Given the description of an element on the screen output the (x, y) to click on. 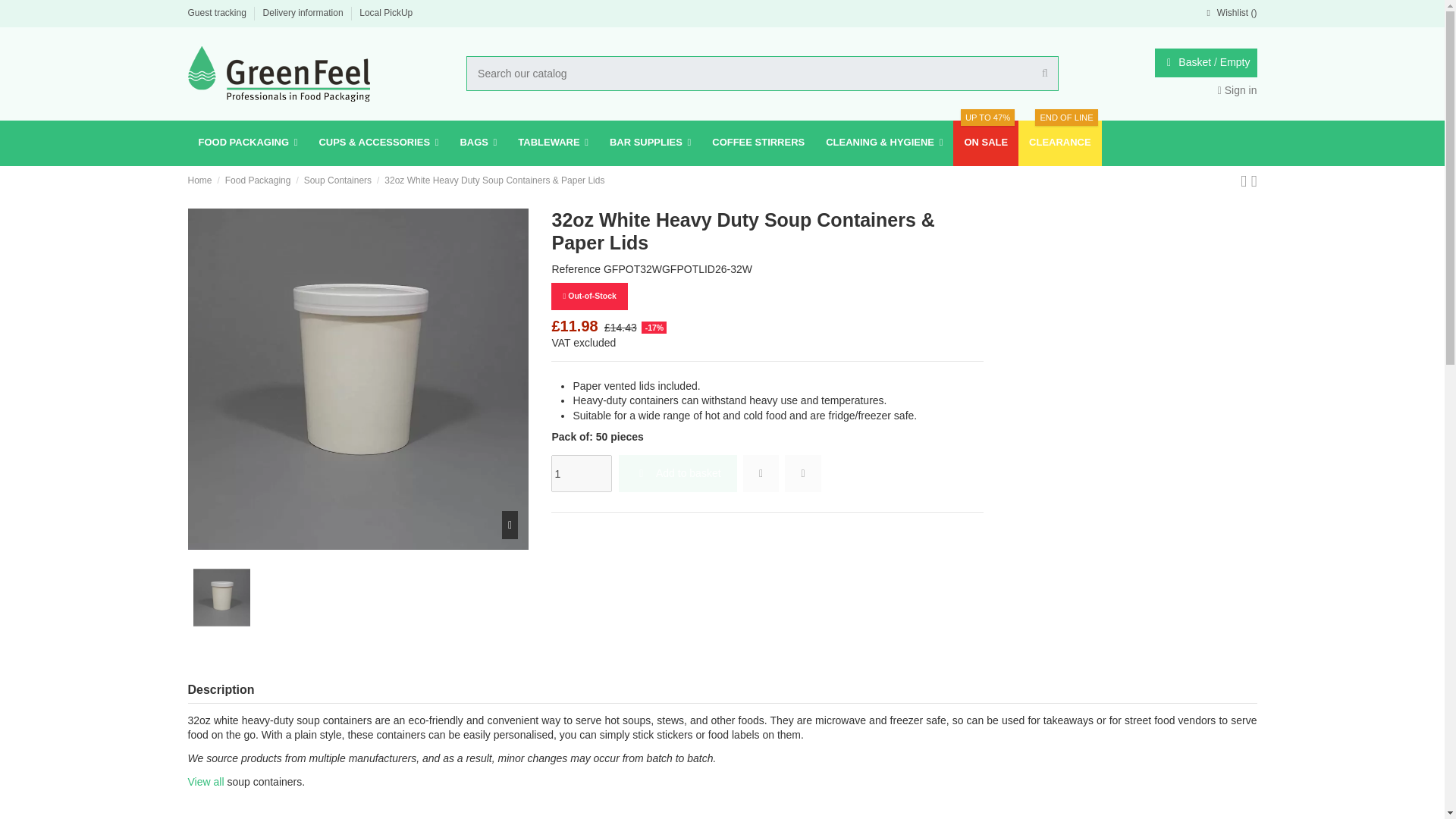
Sign in (1237, 90)
1 (581, 473)
Add to compare (802, 473)
Log in to your customer account (1237, 90)
Delivery information (304, 12)
Local PickUp (385, 12)
Guest tracking (217, 12)
FOOD PACKAGING (247, 143)
Add to wishlist (760, 473)
Our terms and conditions of delivery (304, 12)
